Given the description of an element on the screen output the (x, y) to click on. 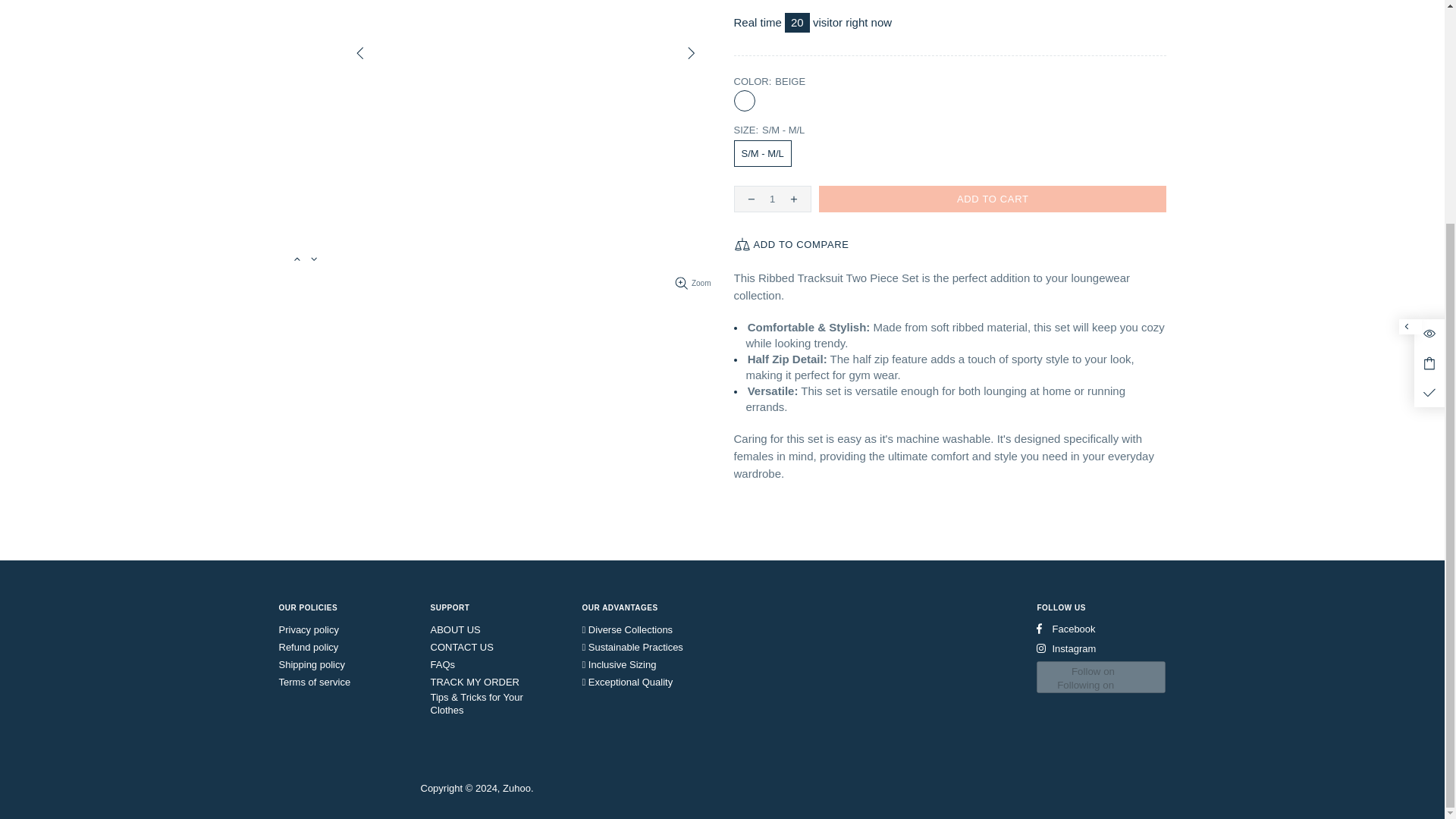
1 (771, 198)
